Given the description of an element on the screen output the (x, y) to click on. 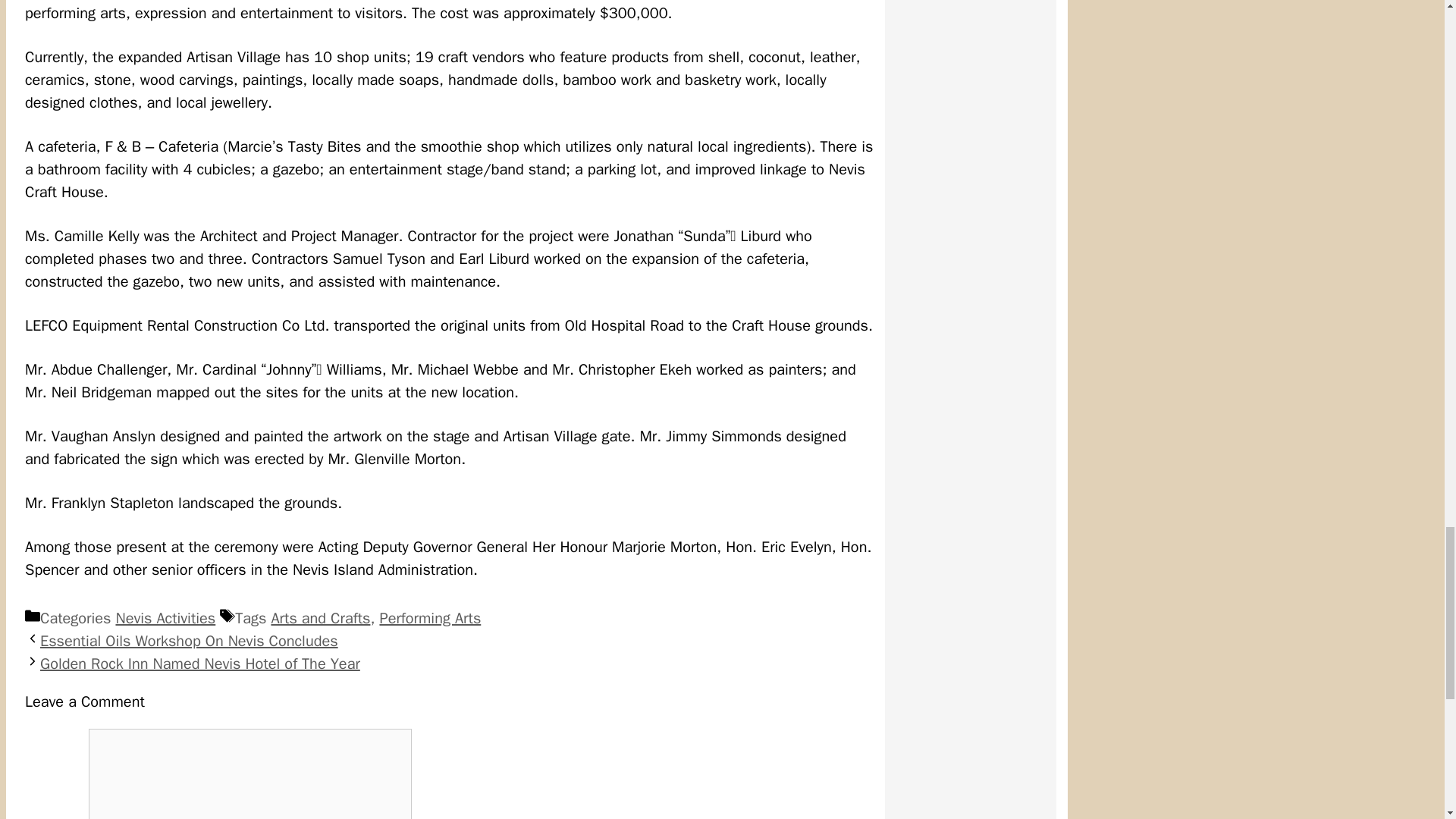
Performing Arts (429, 618)
Essential Oils Workshop On Nevis Concludes (188, 640)
Golden Rock Inn Named Nevis Hotel of The Year (199, 663)
Nevis Activities (165, 618)
Arts and Crafts (319, 618)
